Given the description of an element on the screen output the (x, y) to click on. 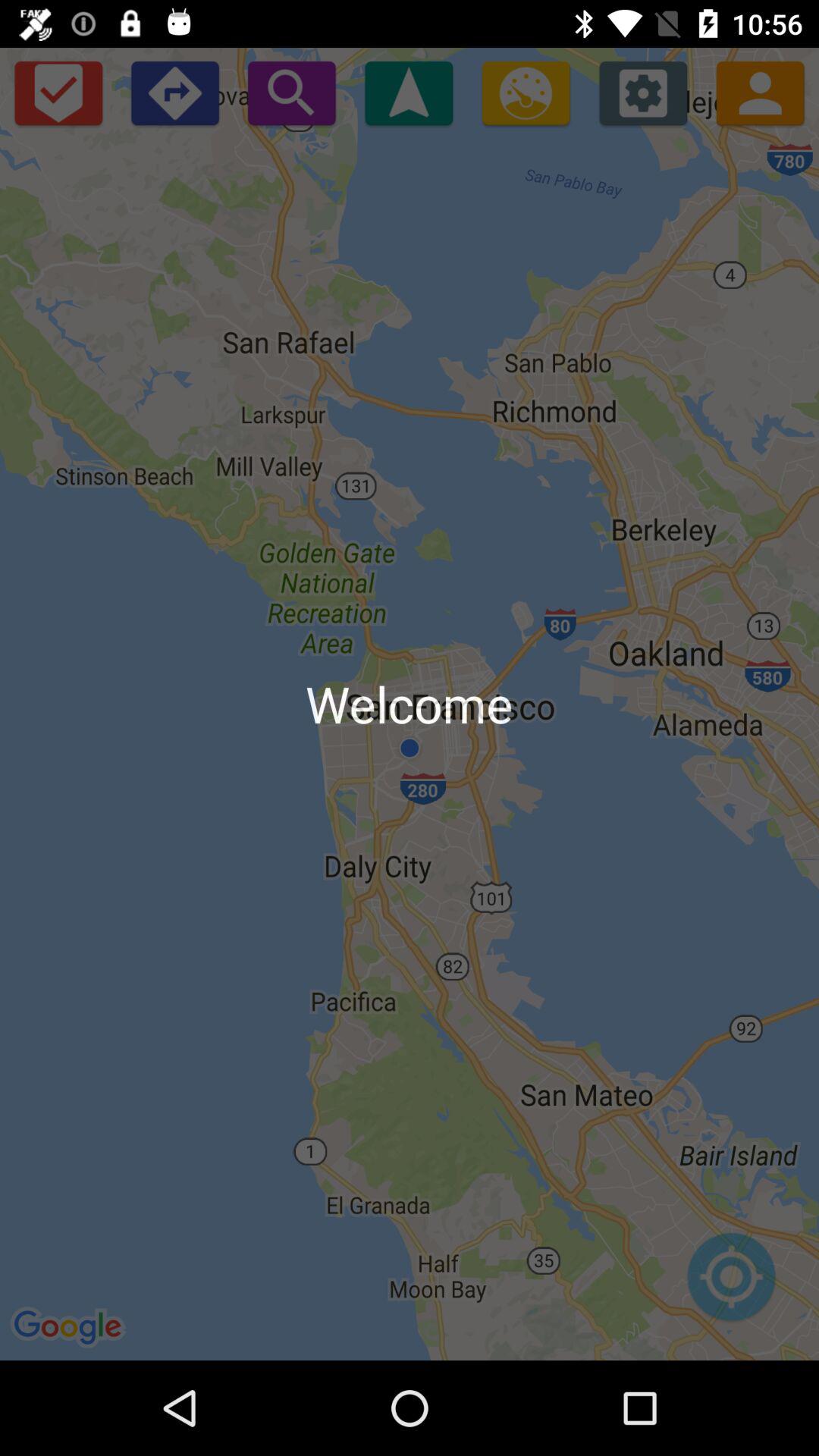
open directions (174, 92)
